Given the description of an element on the screen output the (x, y) to click on. 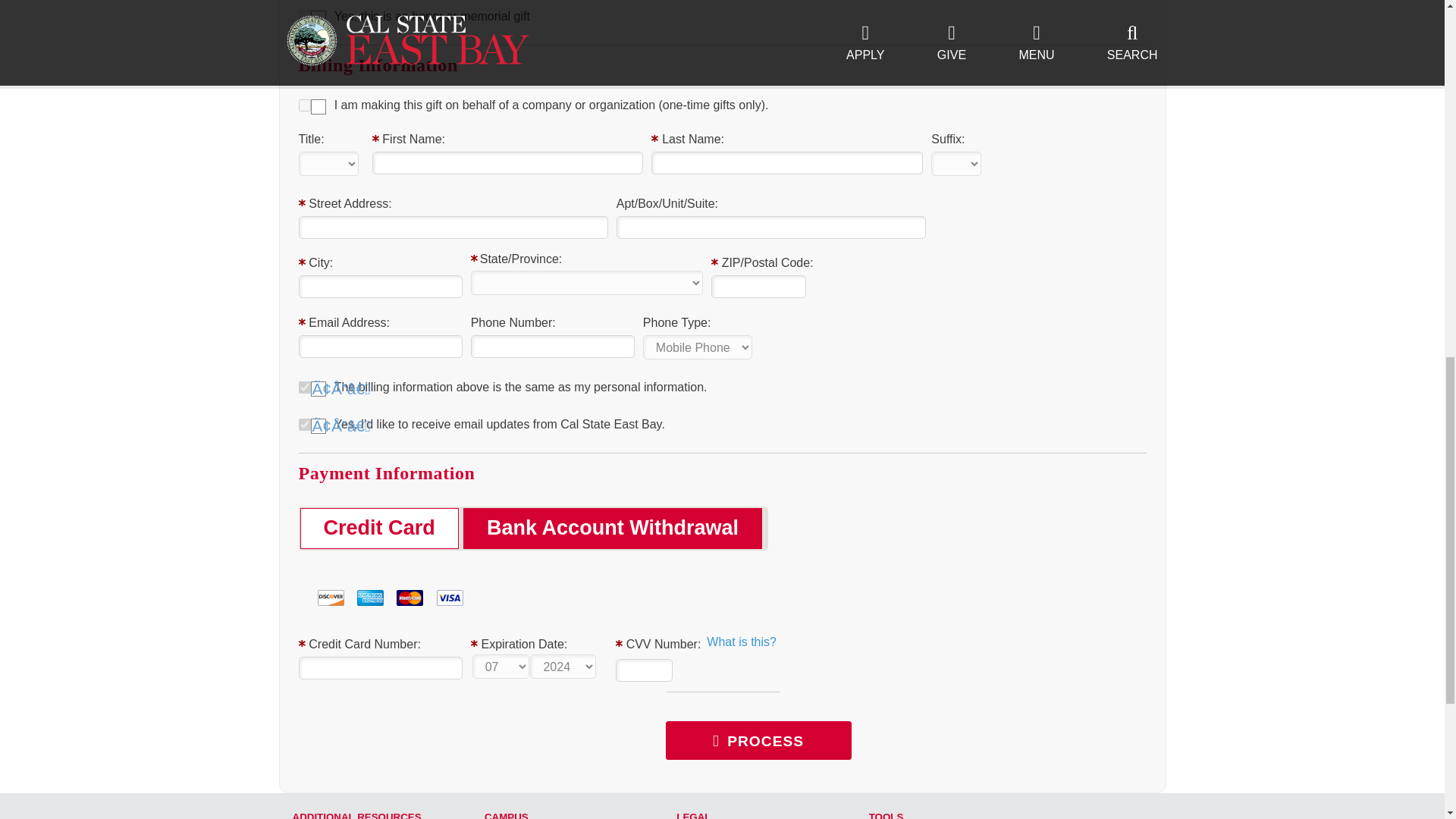
on (304, 16)
on (304, 424)
on (304, 387)
What is this? Opens new window. (741, 641)
on (304, 105)
